Given the description of an element on the screen output the (x, y) to click on. 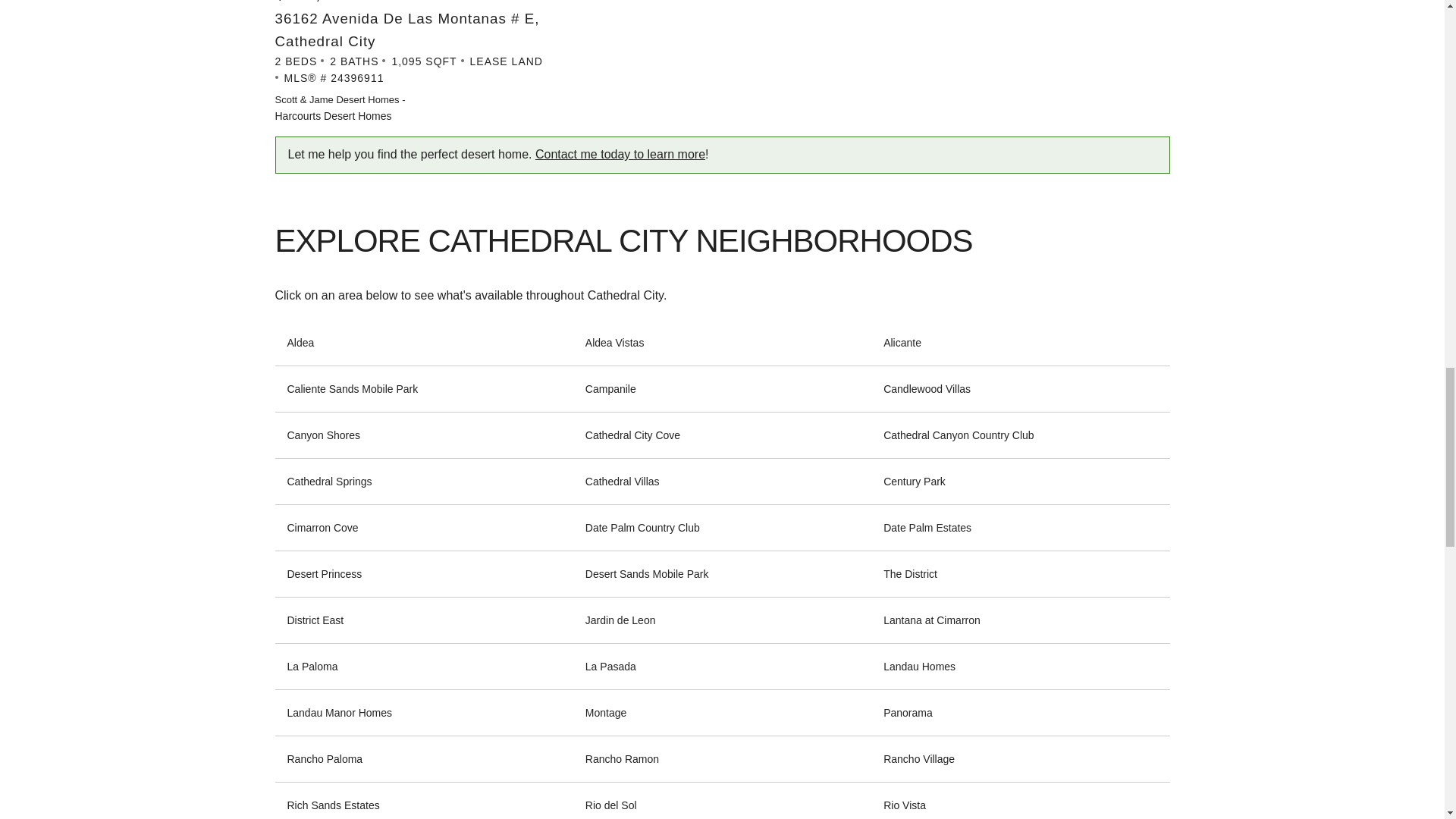
Lantana at Cimarron real estate (931, 620)
Cathedral Springs real estate (328, 481)
Rancho Village real estate (919, 759)
Jardin de Leon real estate (620, 620)
District East real estate (314, 620)
Aldea Vistas (615, 342)
La Pasada real estate (610, 666)
Aldea (300, 342)
Cathedral City Cove real estate (632, 435)
La Paloma real estate (311, 666)
